Given the description of an element on the screen output the (x, y) to click on. 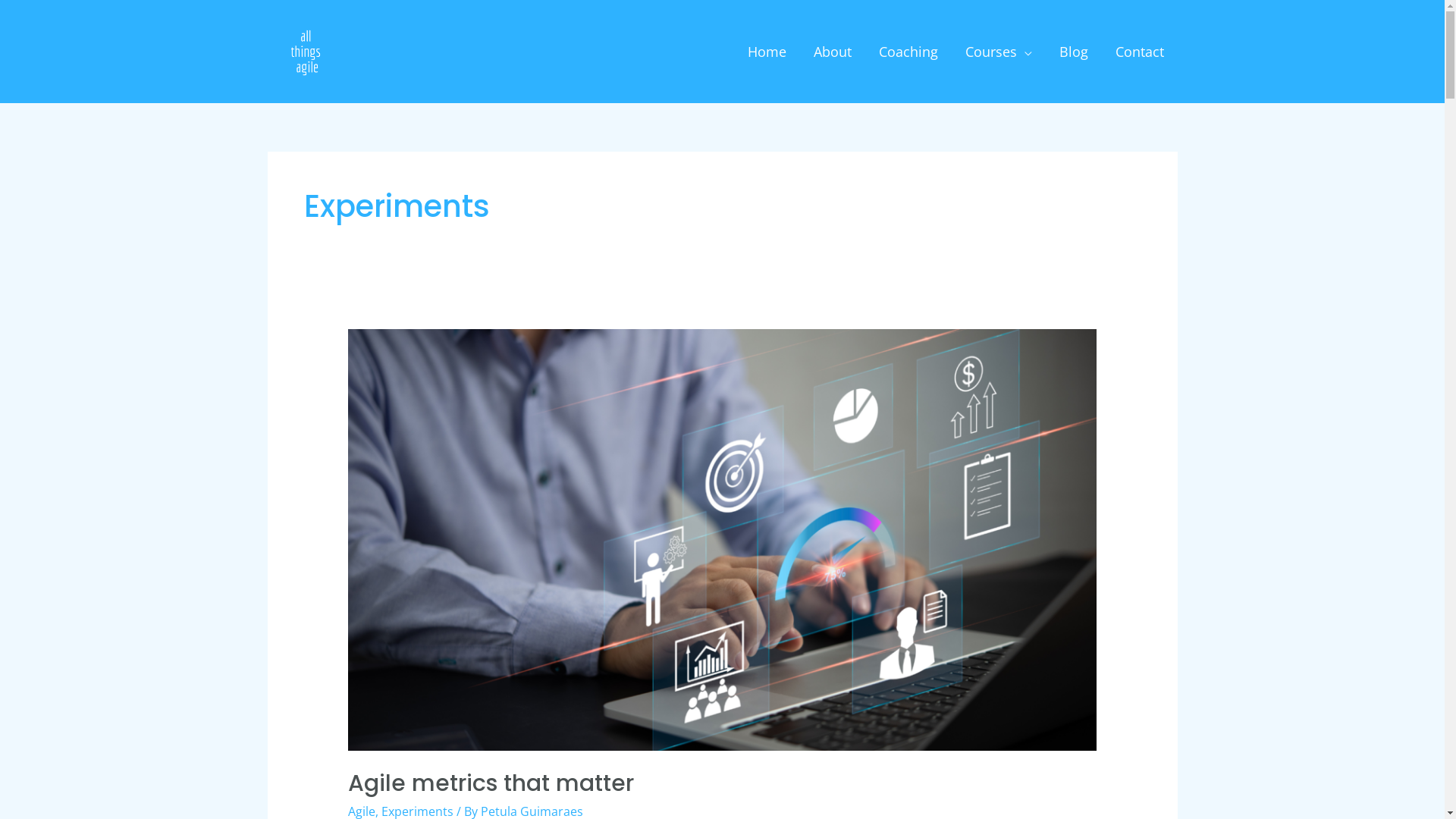
Home Element type: text (767, 51)
Blog Element type: text (1072, 51)
Courses Element type: text (997, 51)
About Element type: text (831, 51)
Contact Element type: text (1138, 51)
Coaching Element type: text (907, 51)
Agile metrics that matter Element type: text (490, 783)
